Given the description of an element on the screen output the (x, y) to click on. 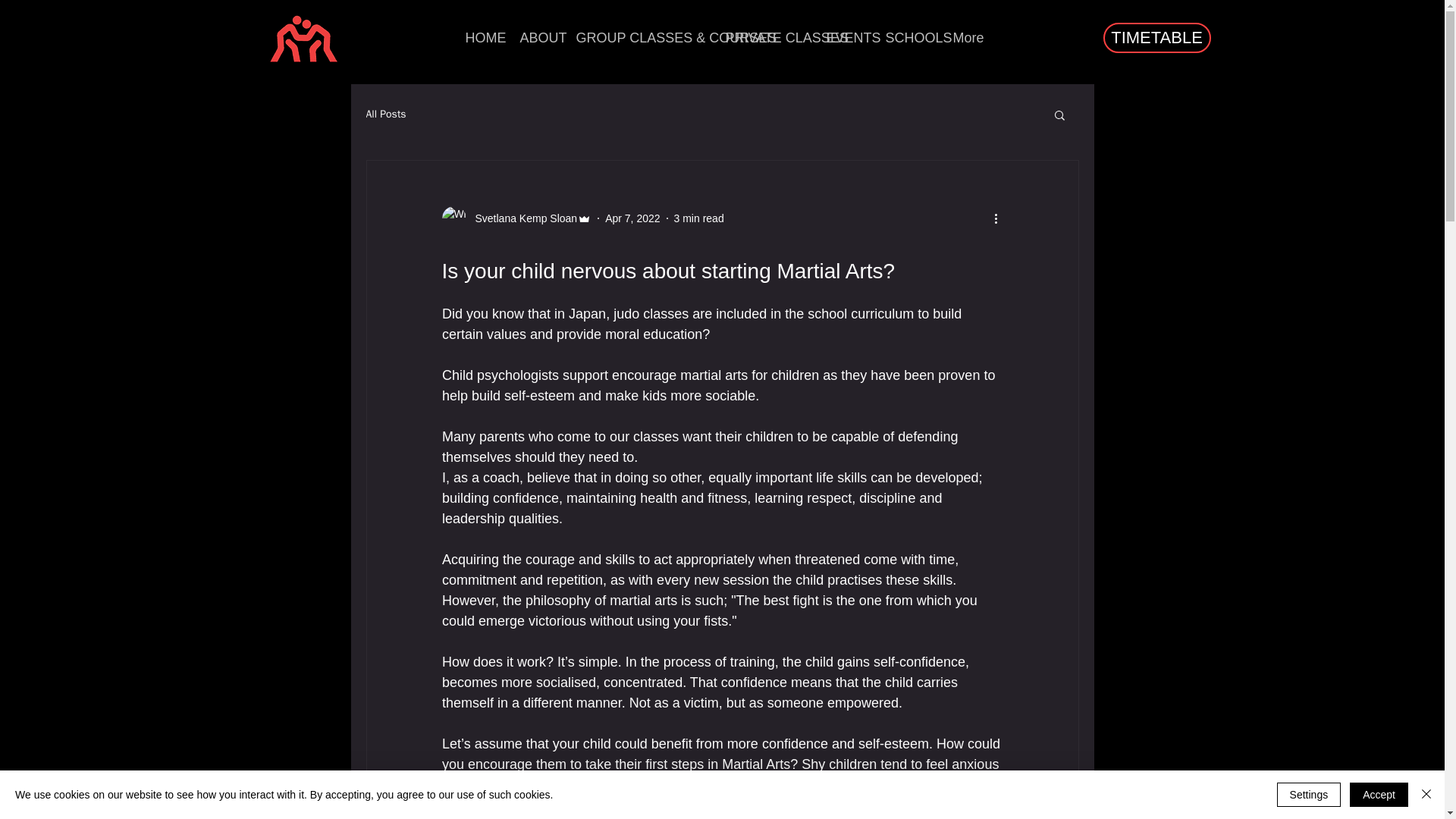
Apr 7, 2022 (632, 218)
SCHOOLS (906, 37)
Go to Exeter Self-Defence Academy home page (301, 38)
TIMETABLE (1155, 37)
Svetlana Kemp Sloan (520, 218)
3 min read (698, 218)
HOME (480, 37)
ABOUT (536, 37)
